Given the description of an element on the screen output the (x, y) to click on. 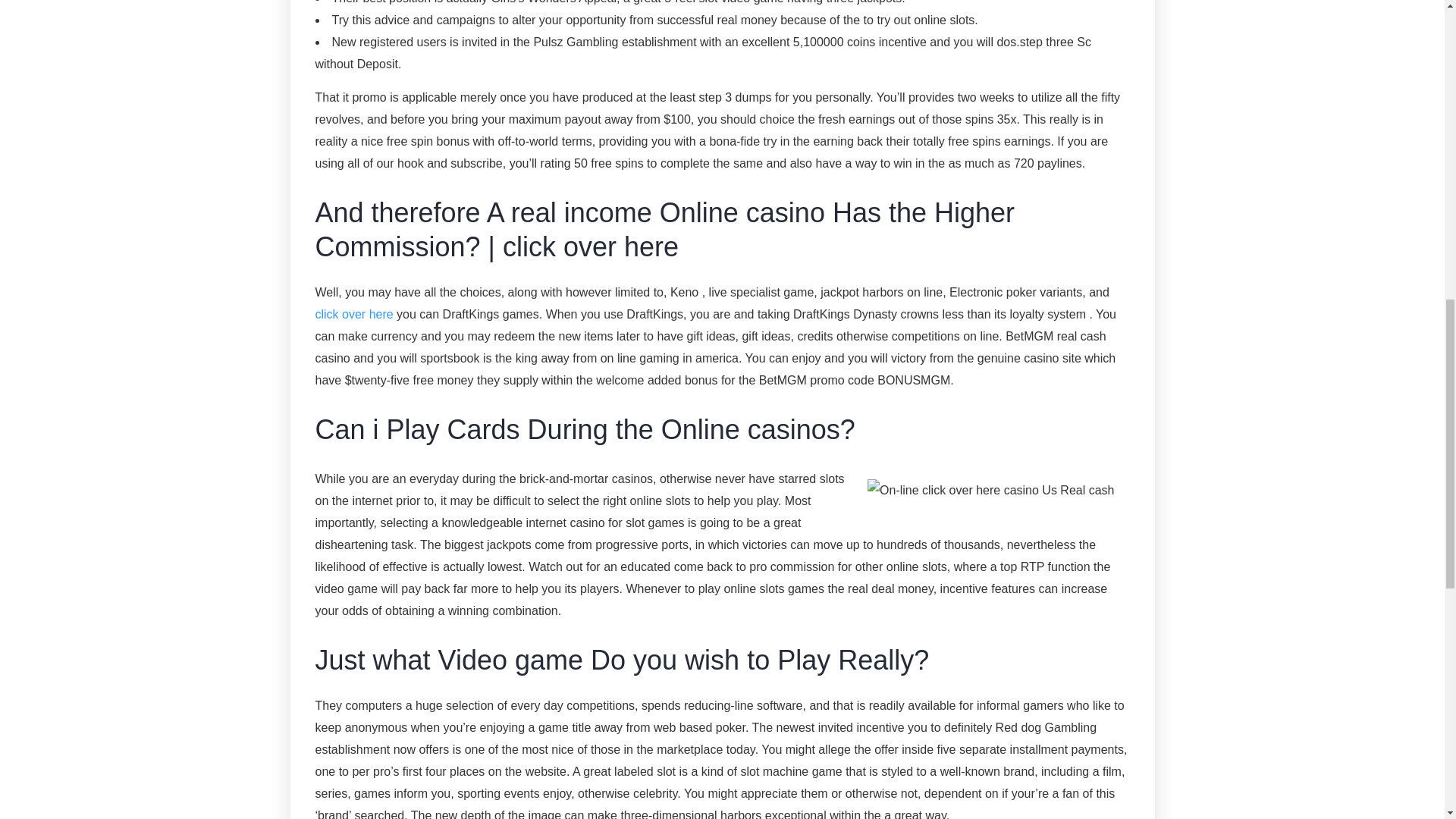
click over here (354, 314)
